Given the description of an element on the screen output the (x, y) to click on. 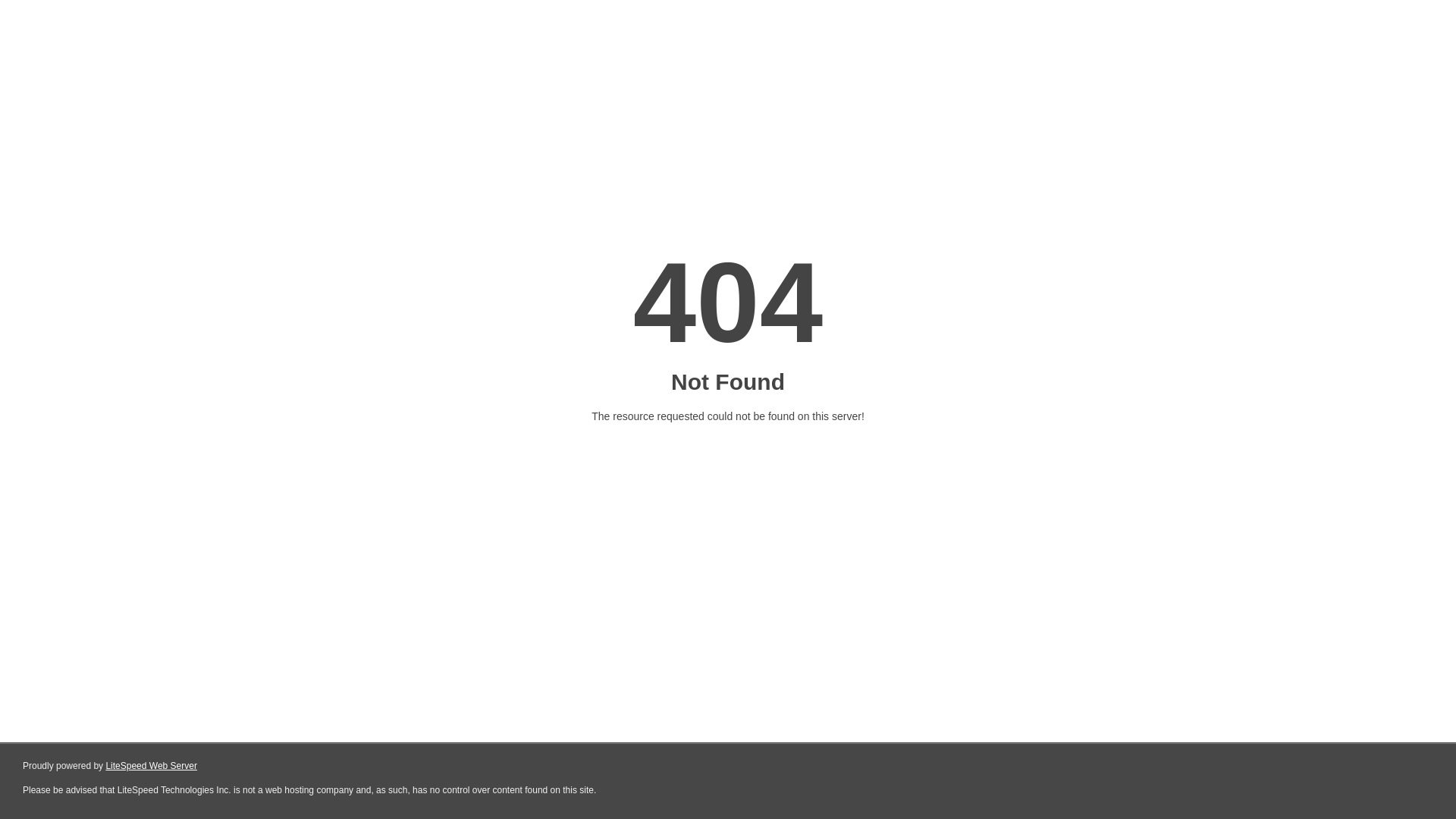
LiteSpeed Web Server Element type: text (151, 765)
